Given the description of an element on the screen output the (x, y) to click on. 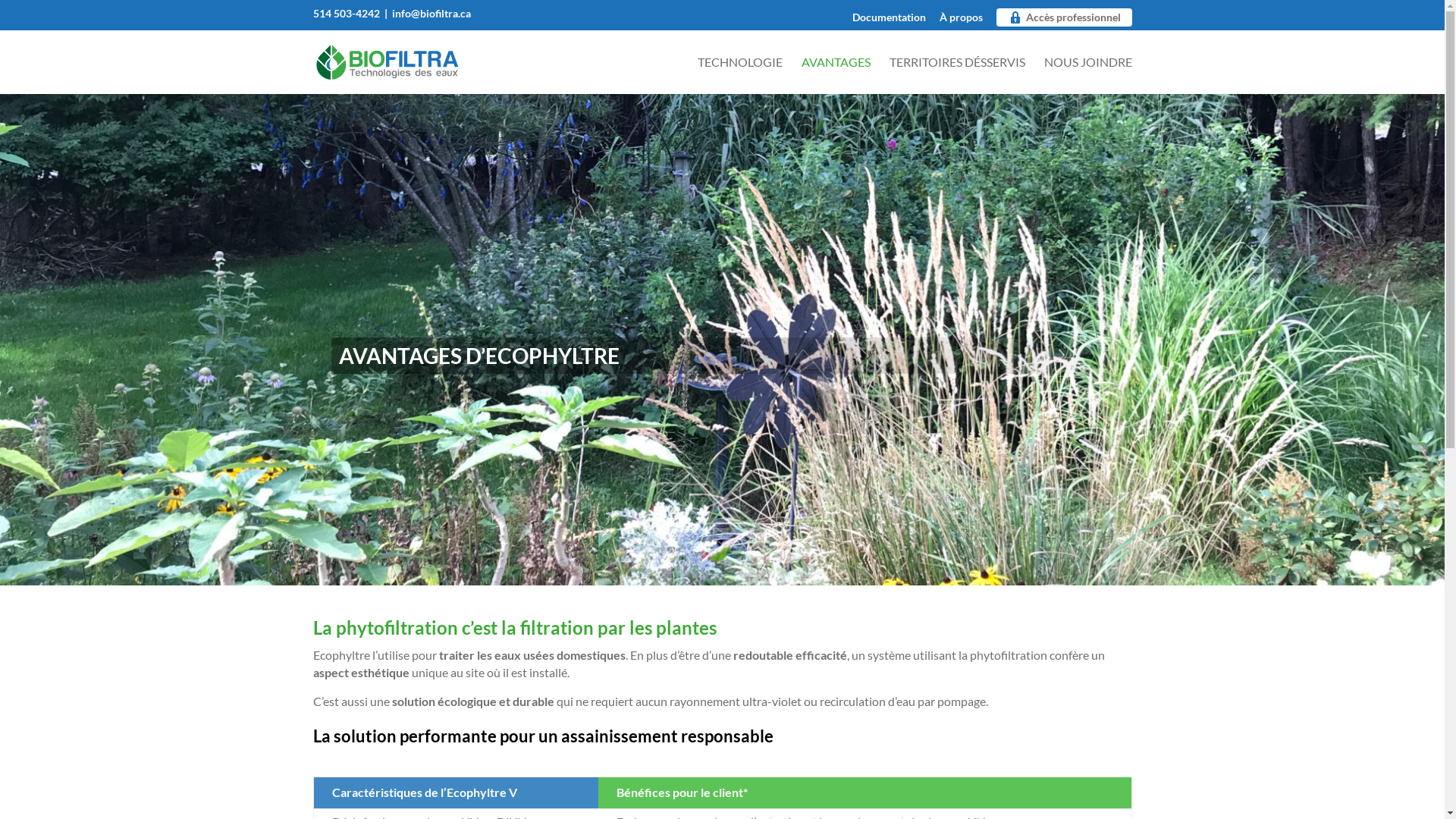
TECHNOLOGIE Element type: text (739, 75)
Documentation Element type: text (888, 21)
info@biofiltra.ca Element type: text (430, 12)
514 503-4242 Element type: text (345, 12)
AVANTAGES Element type: text (834, 75)
NOUS JOINDRE Element type: text (1087, 75)
